Given the description of an element on the screen output the (x, y) to click on. 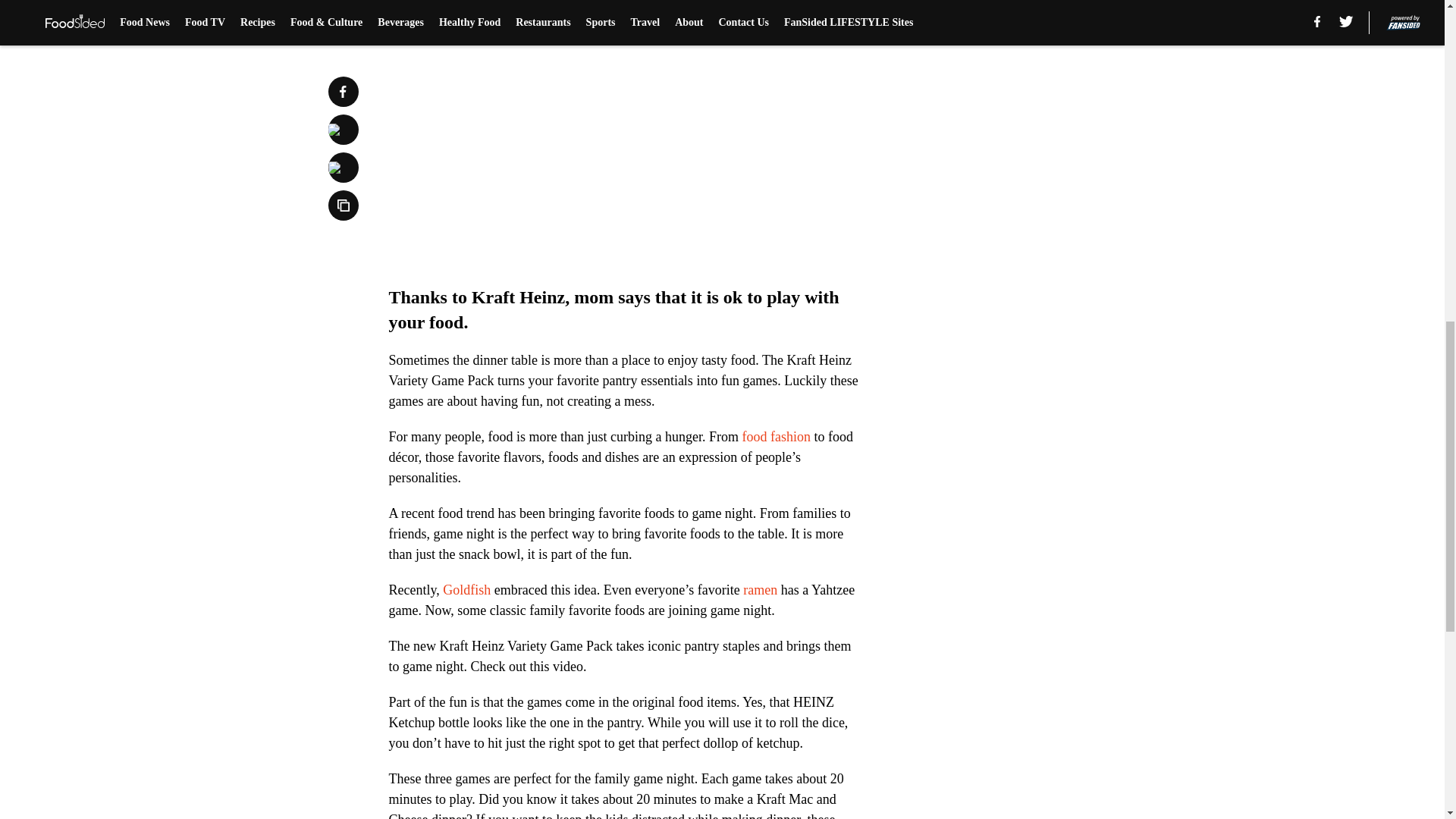
Goldfish (466, 589)
ramen (759, 589)
food fashion (775, 436)
